Given the description of an element on the screen output the (x, y) to click on. 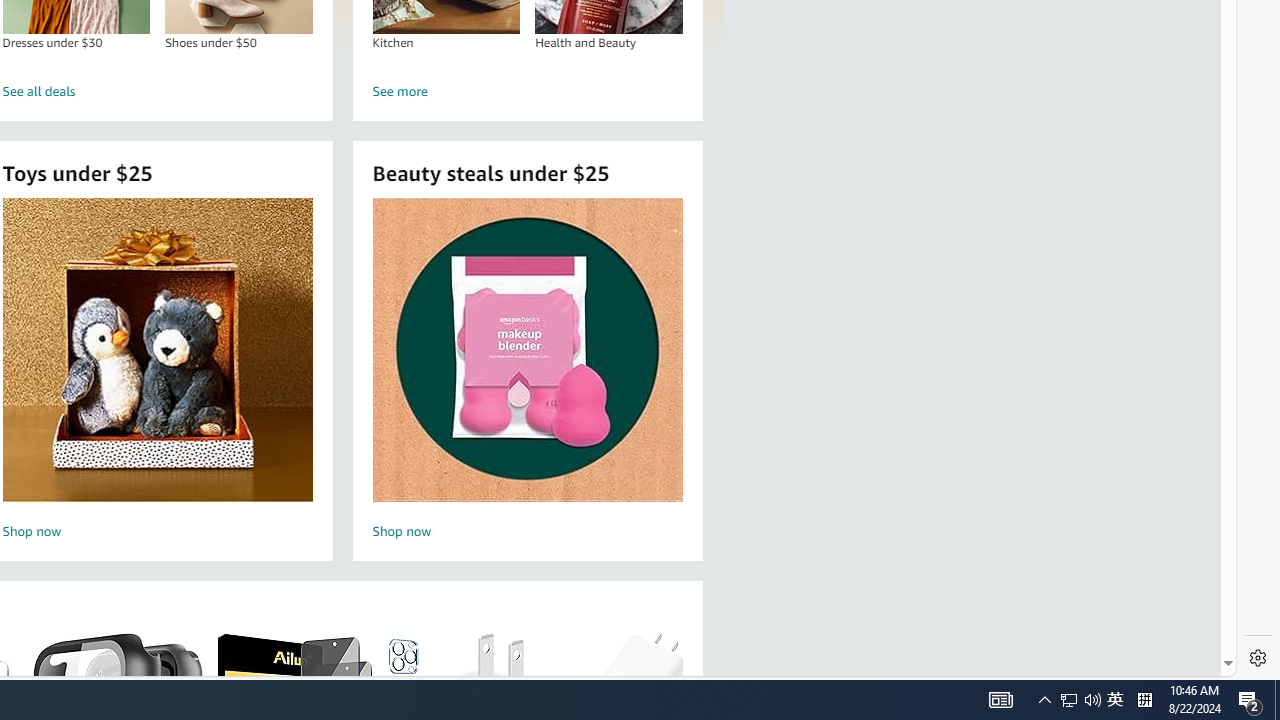
Hide Panel (1256, 227)
Terminal 2 Python (1220, 277)
Ln 112, Col 16 (891, 668)
AutomationID: 4105 (1000, 699)
Q2790: 100% (1092, 699)
CRLF (1070, 668)
Beauty steals under $25 Shop now (527, 371)
See more (527, 92)
Terminal 1 powershell (1220, 255)
Settings (1258, 658)
Action Center, 2 new notifications (1115, 699)
Launch Profile... (1250, 699)
